Given the description of an element on the screen output the (x, y) to click on. 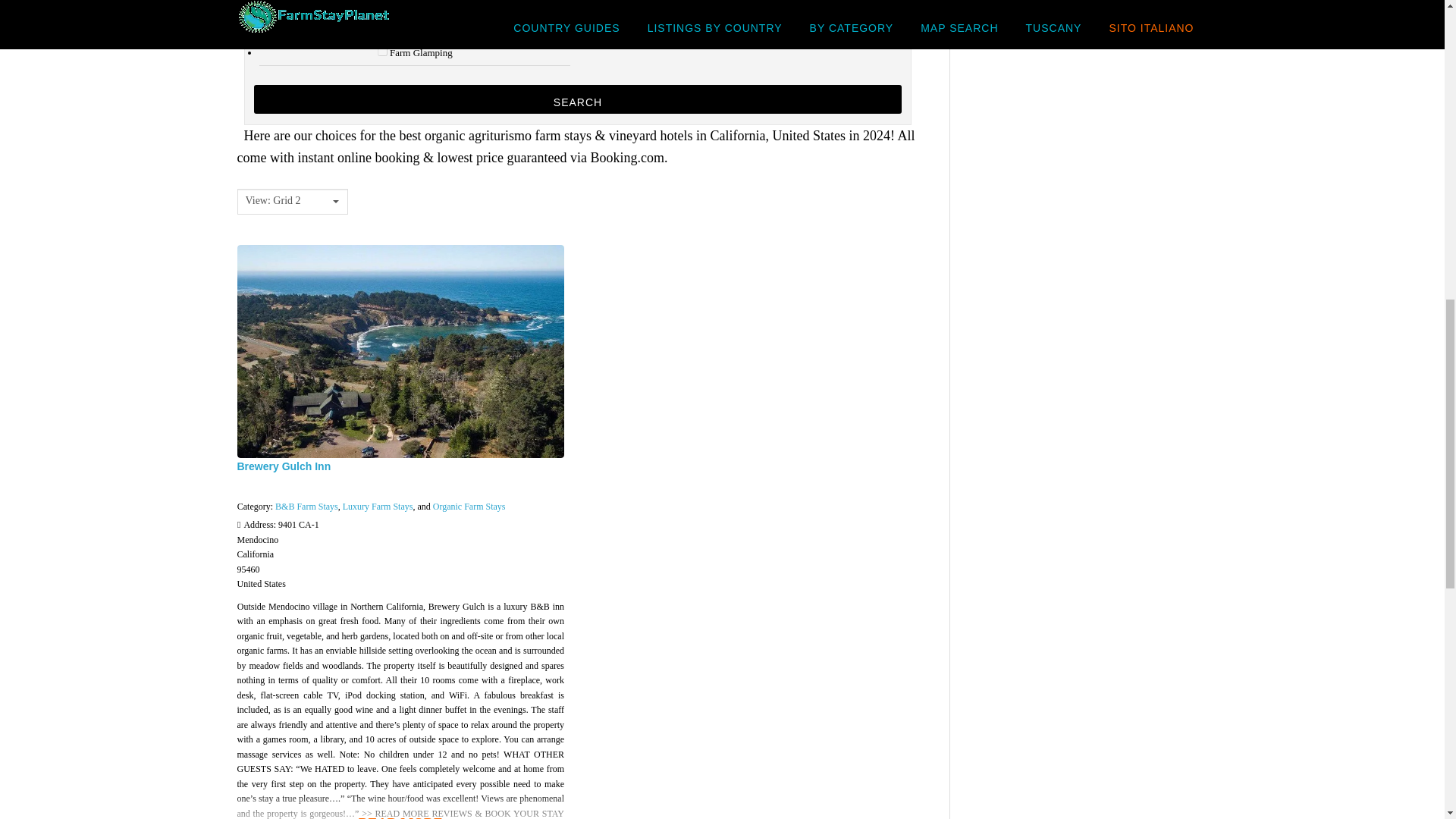
View: Grid 2 (287, 201)
195 (382, 50)
View: Brewery Gulch Inn (282, 466)
8108 (370, 17)
